Given the description of an element on the screen output the (x, y) to click on. 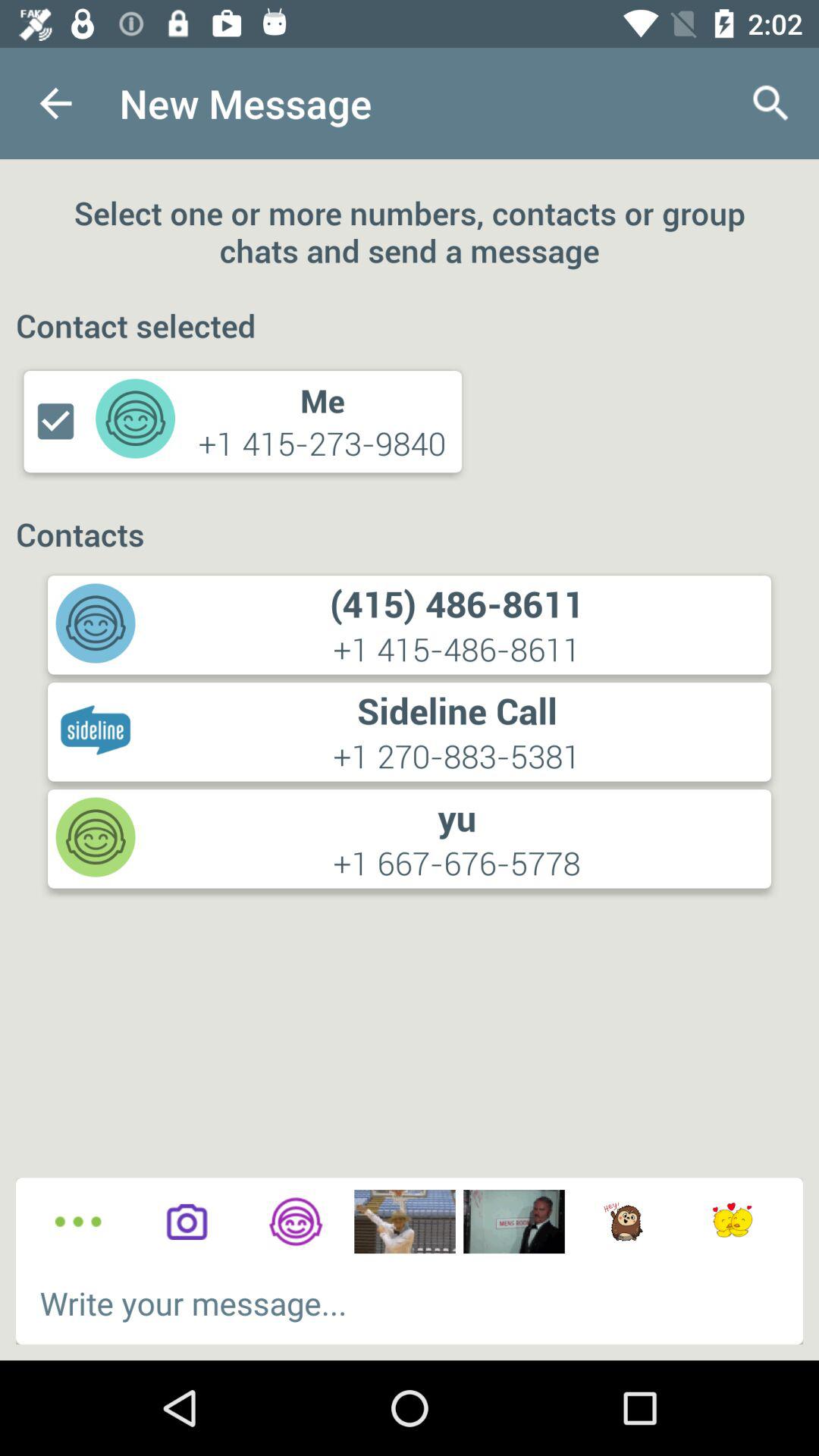
select the text box which says write your message (409, 1302)
select the last image which is at the bottom right of the page (731, 1221)
click on the first image from the bottom (404, 1221)
select the icon which is below sideline (95, 837)
